Given the description of an element on the screen output the (x, y) to click on. 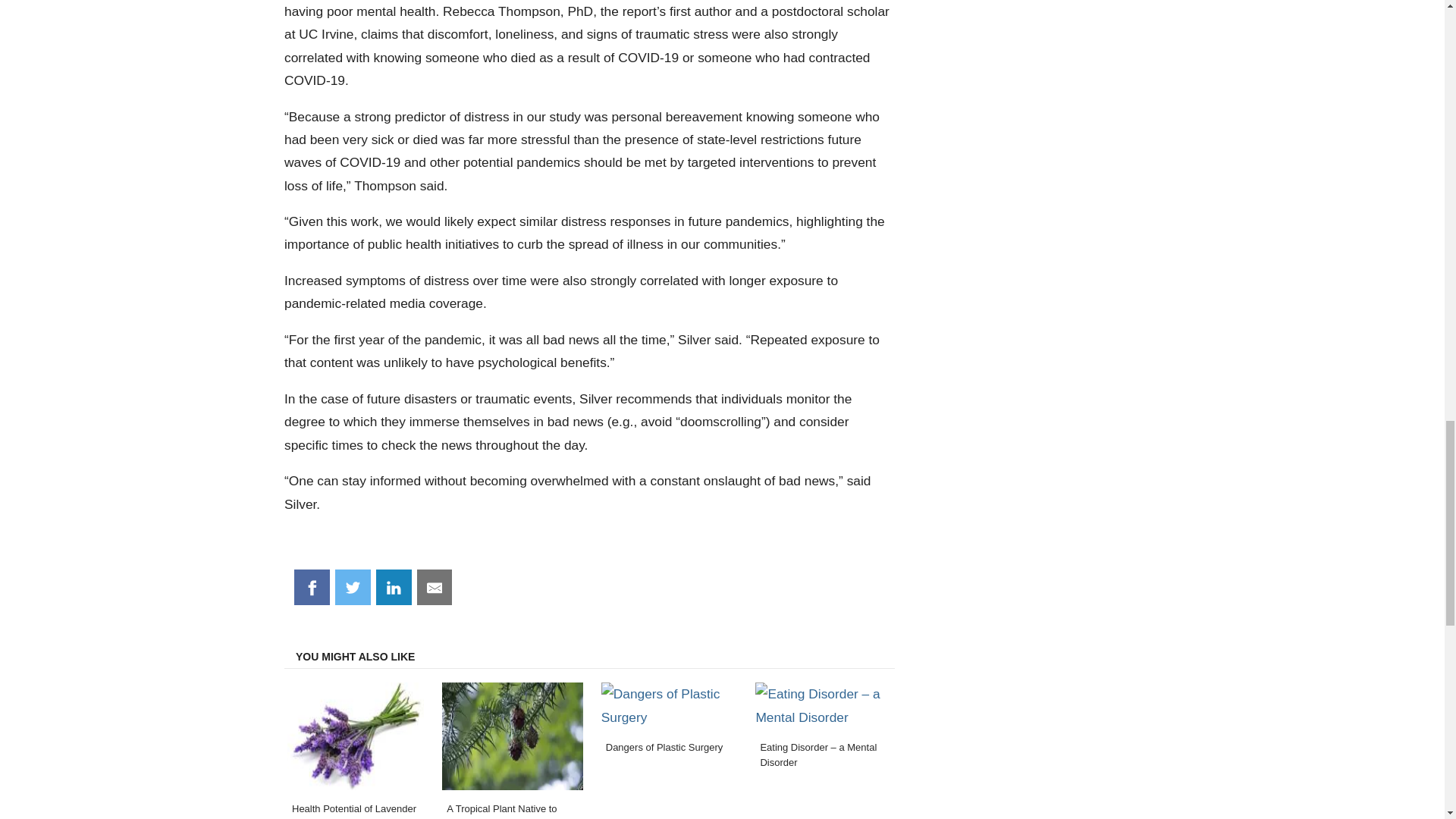
Dangers of Plastic Surgery (669, 749)
A Tropical Plant Native to China has Anti-obesity Properties (512, 749)
Share on Email (434, 587)
Health Potential of Lavender (354, 749)
Tweet this ! (352, 587)
Share on LinkedIn (393, 587)
Share on Facebook (312, 587)
